Given the description of an element on the screen output the (x, y) to click on. 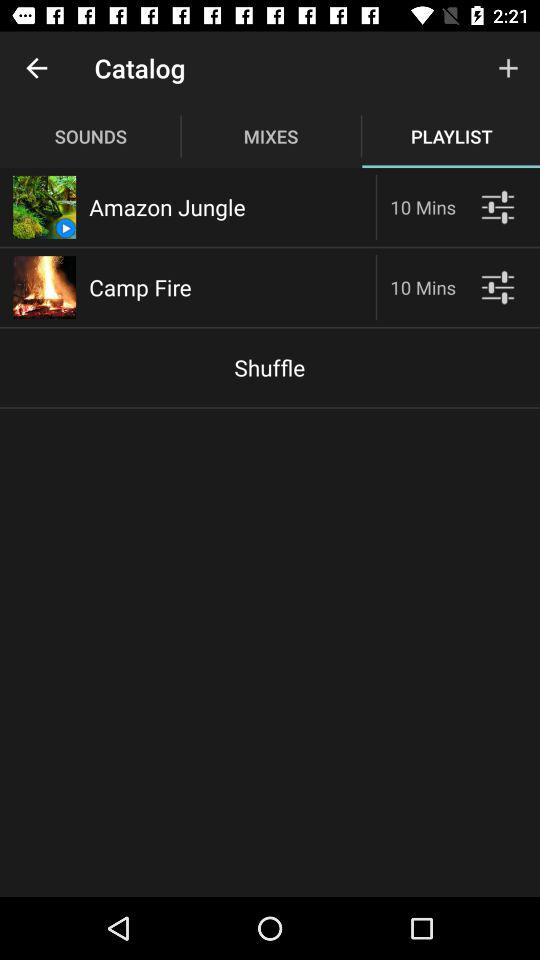
adjust settings (498, 287)
